Given the description of an element on the screen output the (x, y) to click on. 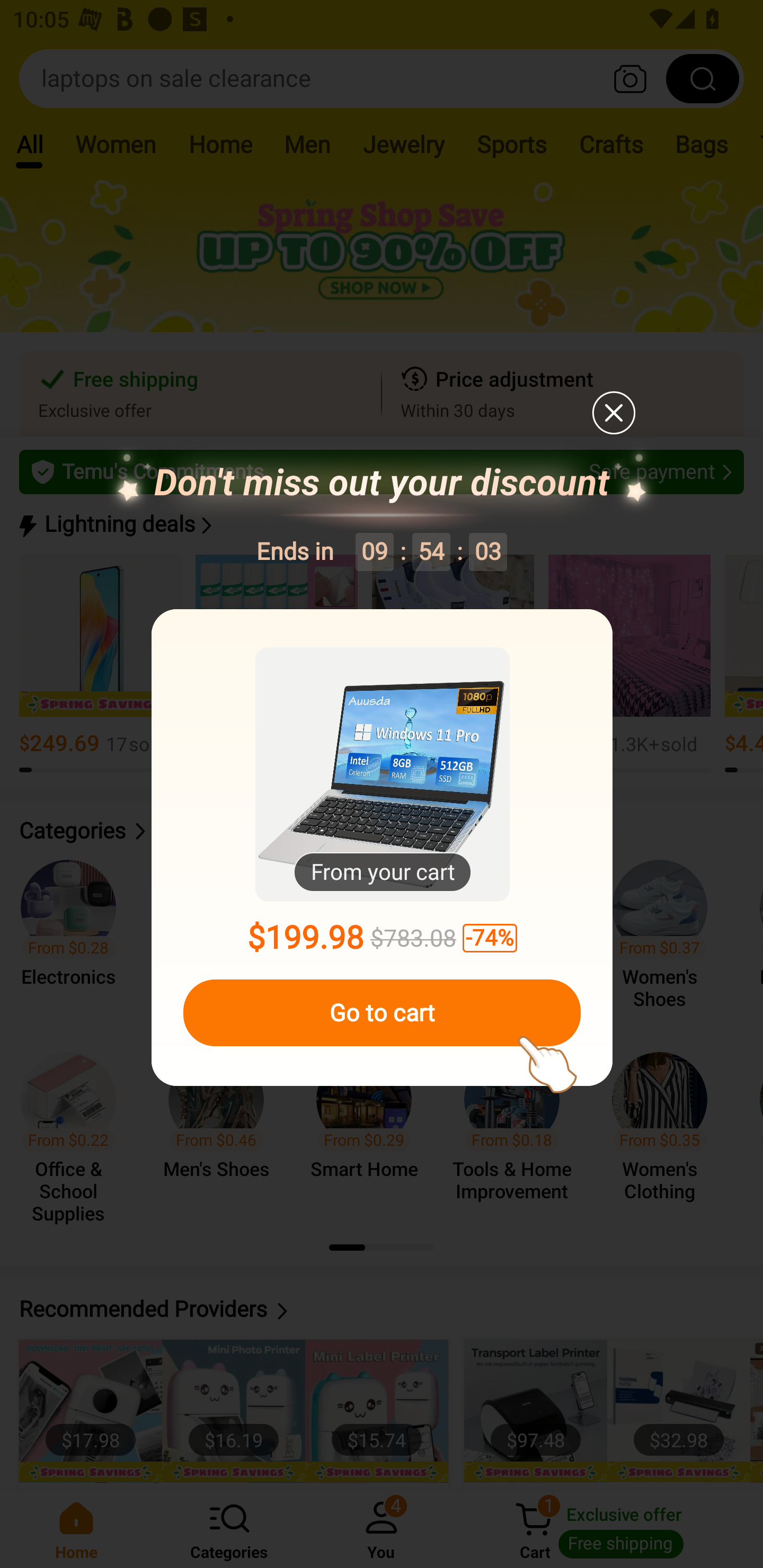
 (612, 412)
From your cart $199.98 $783.08 -74% Go to cart (381, 847)
Go to cart (381, 1012)
